Given the description of an element on the screen output the (x, y) to click on. 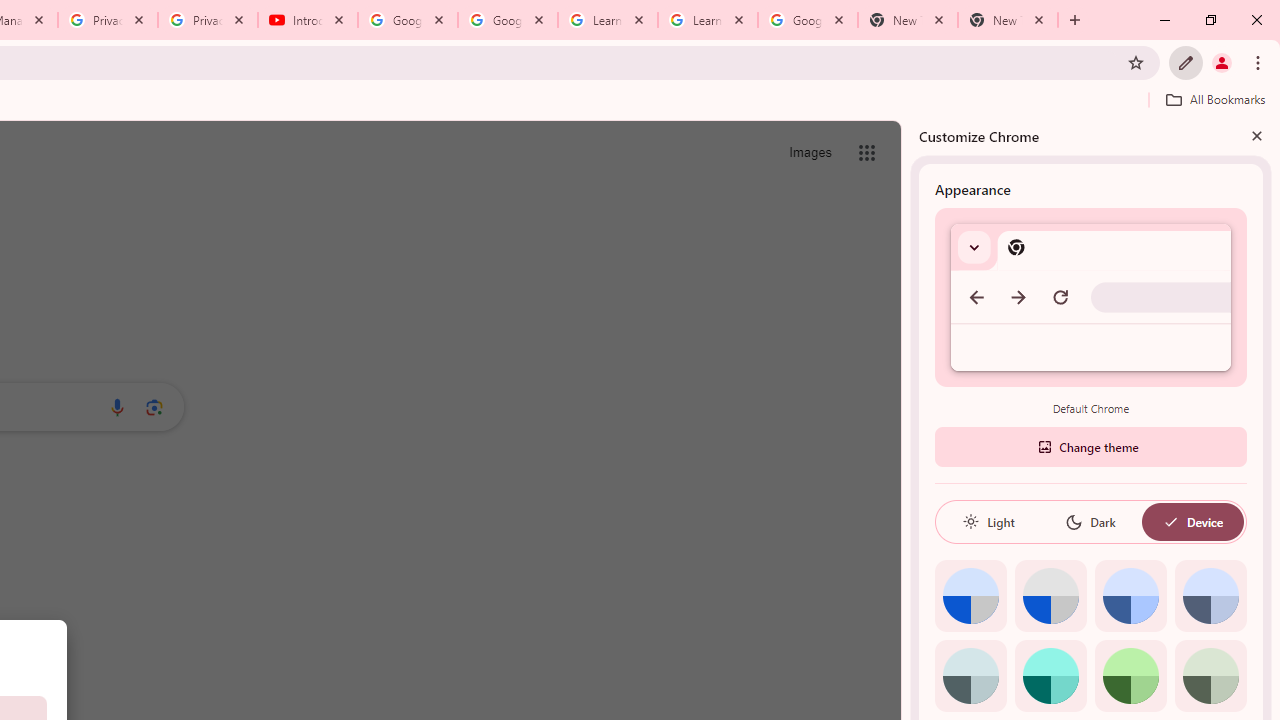
New Tab (907, 20)
Aqua (1050, 676)
Default Chrome (1091, 296)
